Given the description of an element on the screen output the (x, y) to click on. 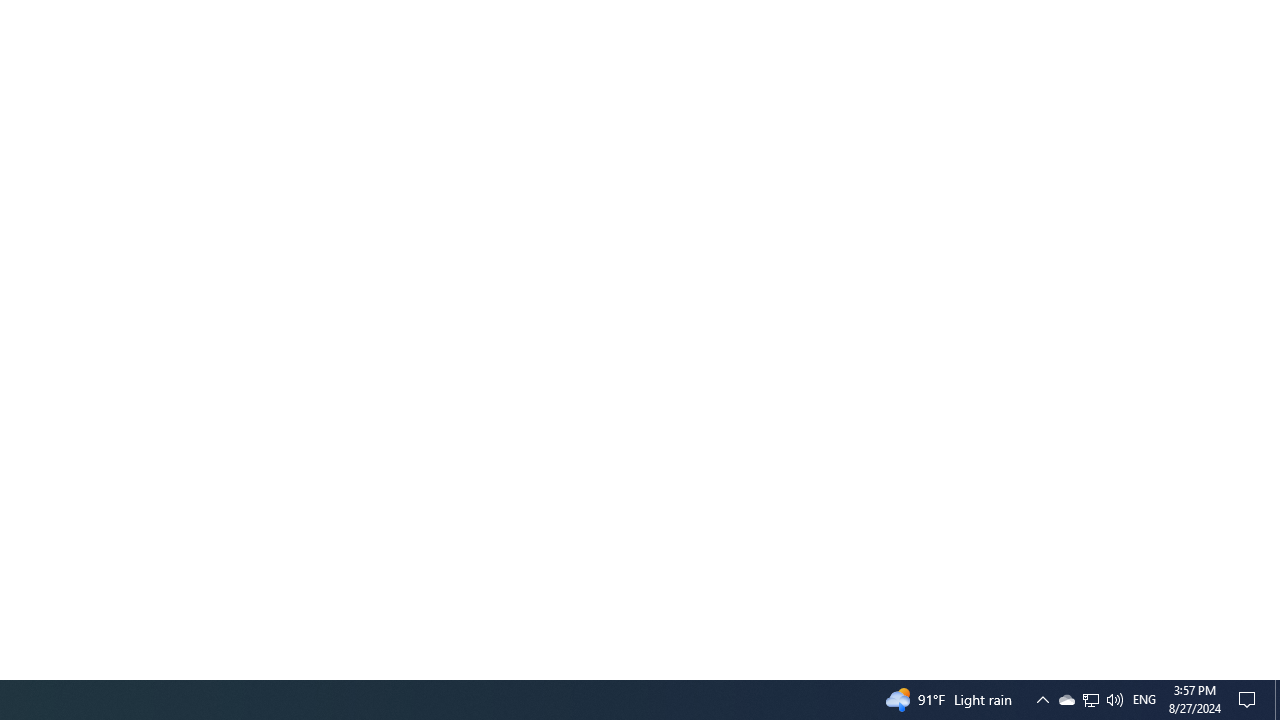
Notification Chevron (1042, 699)
Action Center, No new notifications (1250, 699)
User Promoted Notification Area (1090, 699)
Show desktop (1277, 699)
Q2790: 100% (1066, 699)
Tray Input Indicator - English (United States) (1091, 699)
